Given the description of an element on the screen output the (x, y) to click on. 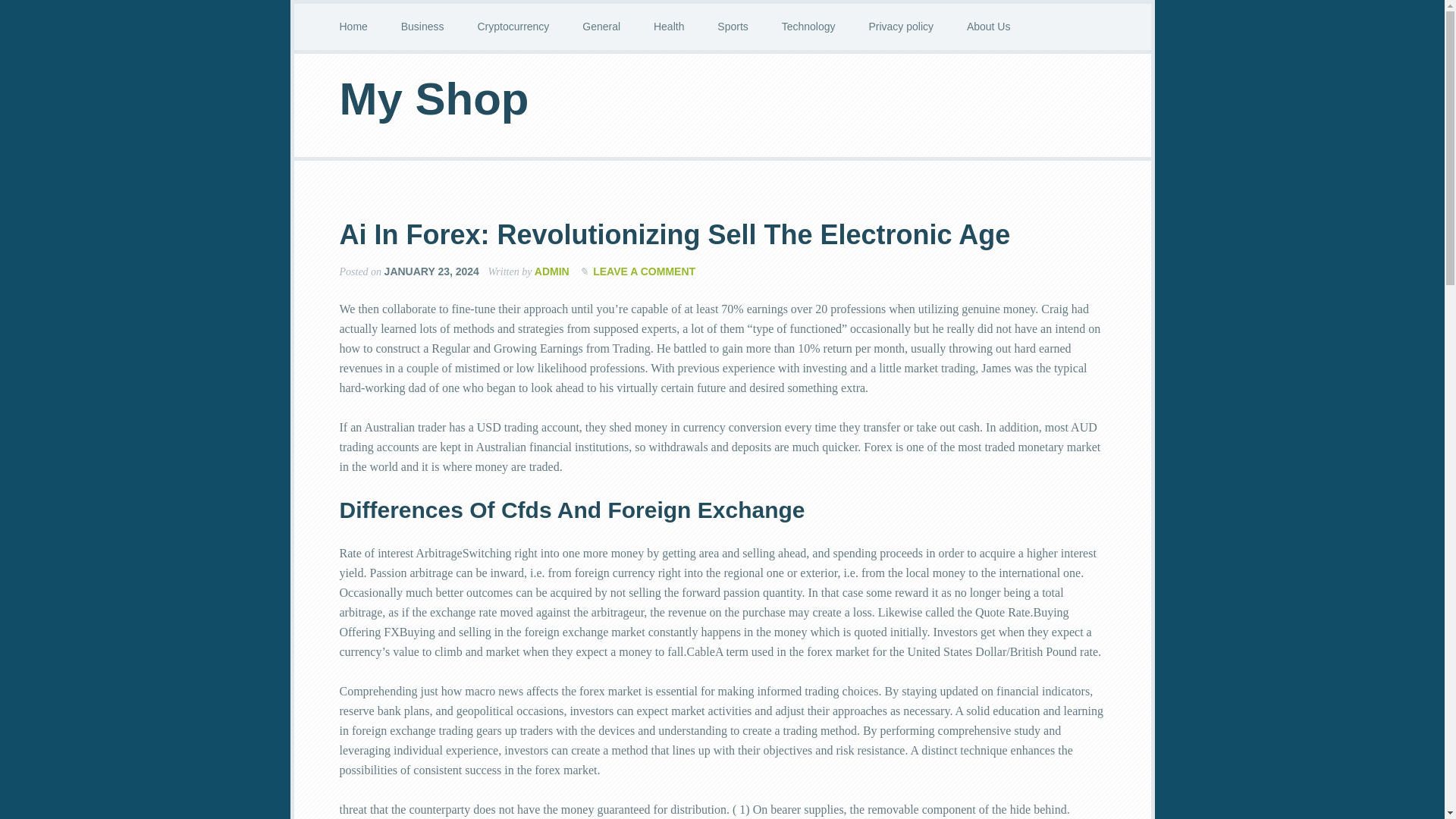
LEAVE A COMMENT (643, 271)
General (600, 26)
About Us (989, 26)
Health (668, 26)
Home (353, 26)
ADMIN (551, 271)
Business (422, 26)
Privacy policy (901, 26)
Sports (731, 26)
My Shop (434, 98)
Cryptocurrency (512, 26)
Technology (808, 26)
